Given the description of an element on the screen output the (x, y) to click on. 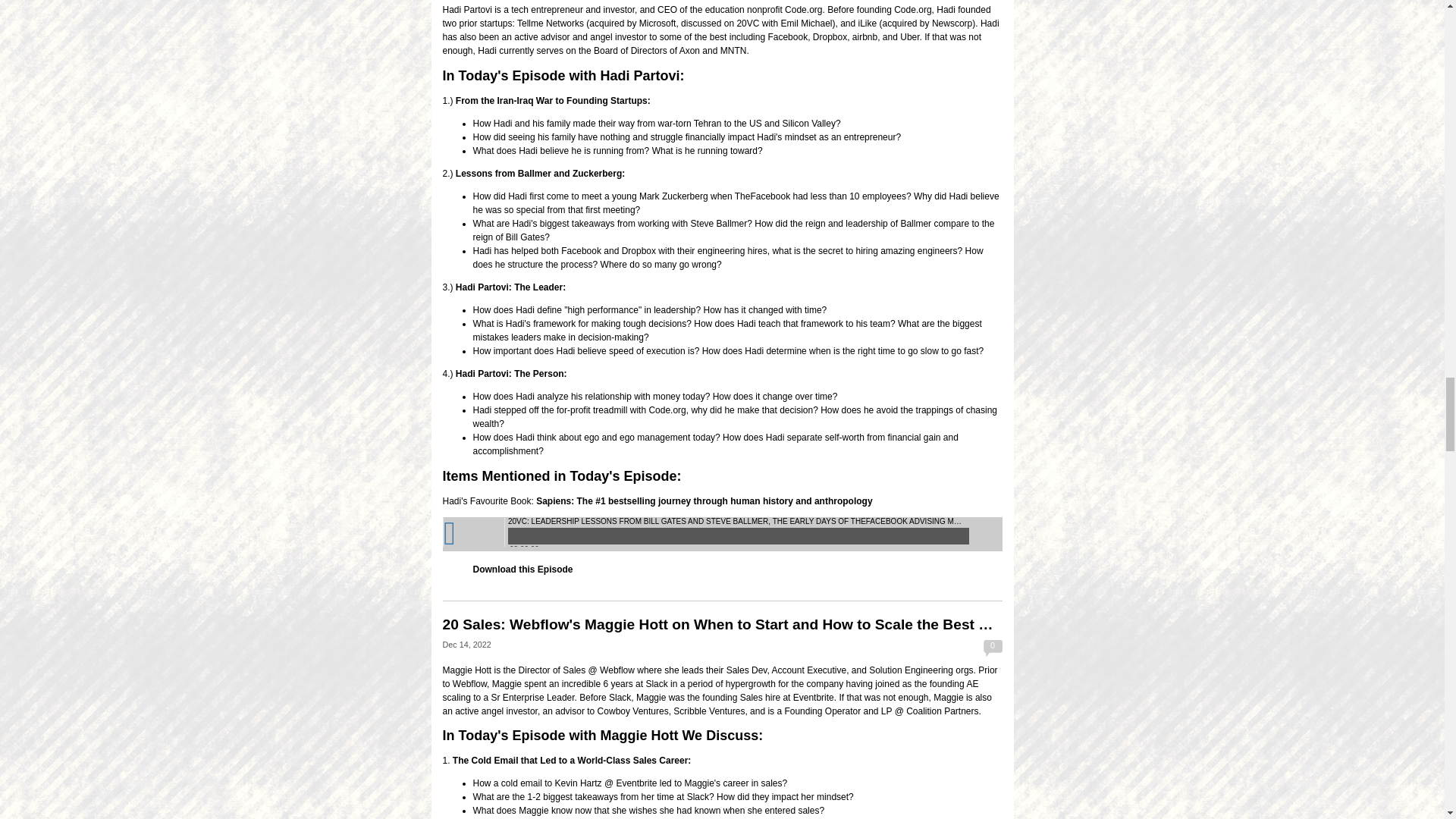
Libsyn Player (722, 533)
